Given the description of an element on the screen output the (x, y) to click on. 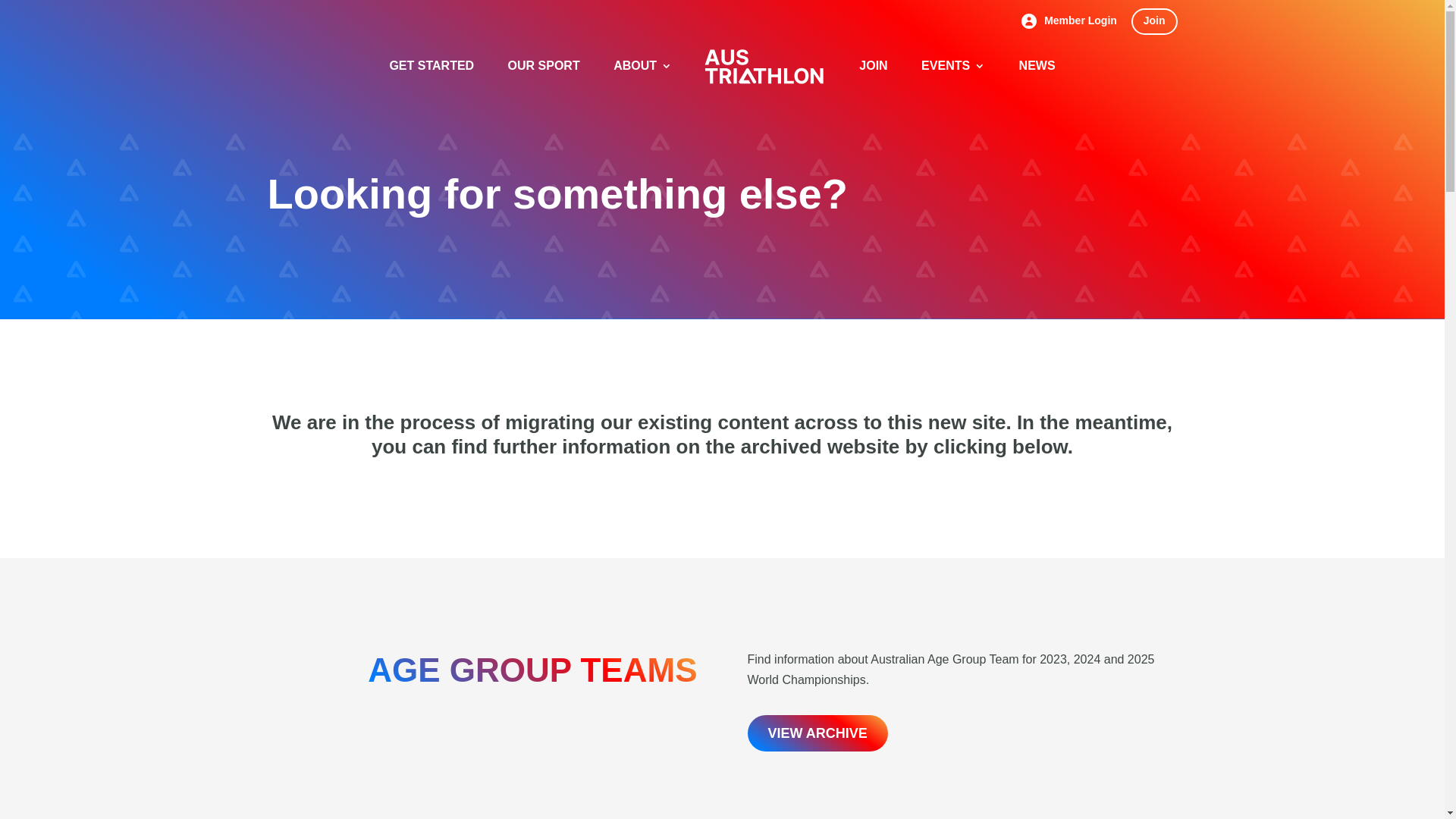
NEWS Element type: text (1037, 78)
GET STARTED Element type: text (431, 78)
JOIN Element type: text (873, 78)
Join Element type: text (1154, 20)
OUR SPORT Element type: text (544, 78)
EVENTS Element type: text (953, 78)
ABOUT Element type: text (642, 78)
Member Login Element type: text (1069, 24)
VIEW ARCHIVE Element type: text (817, 733)
